Given the description of an element on the screen output the (x, y) to click on. 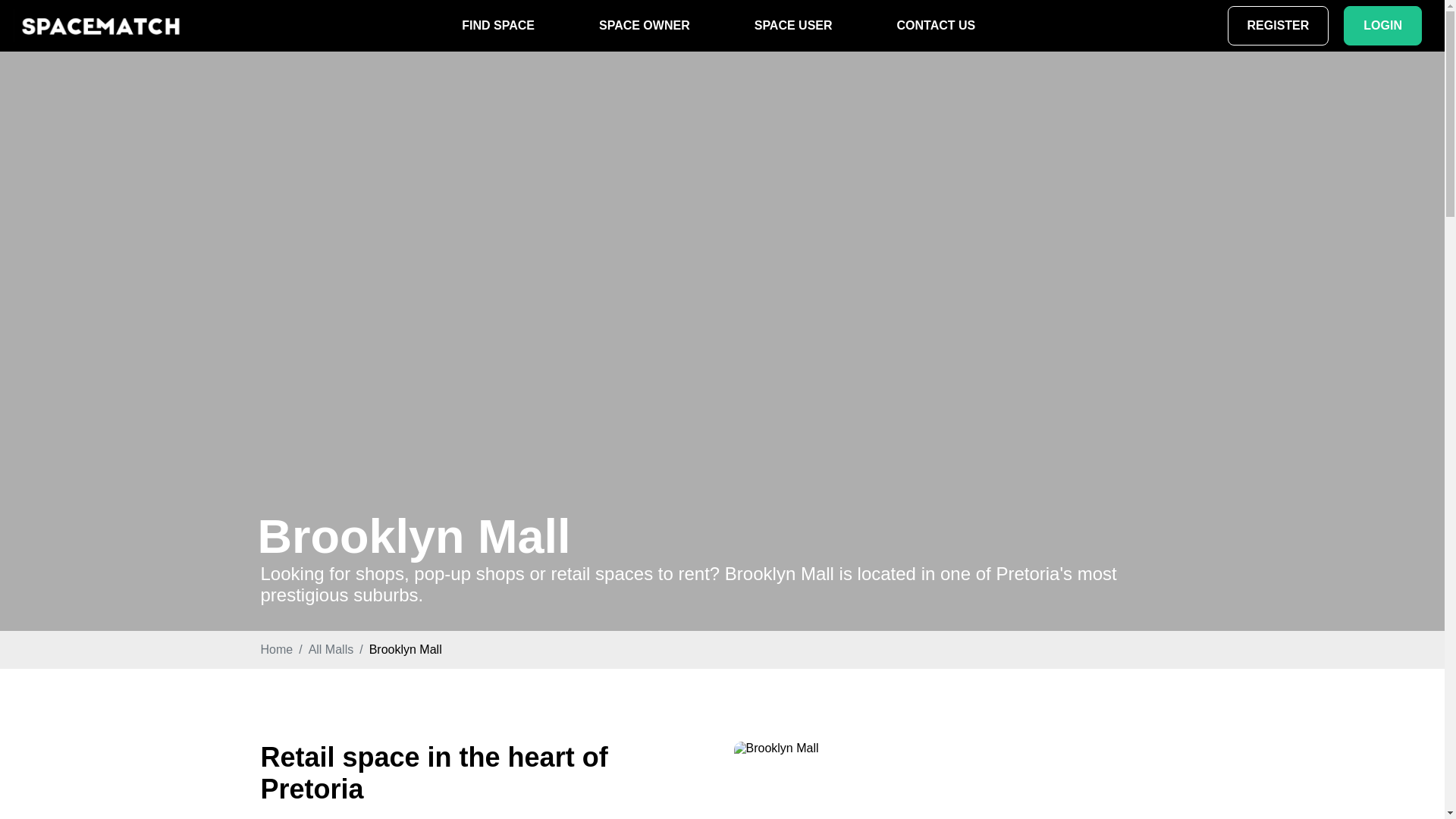
CONTACT US (935, 25)
All Malls (330, 649)
LOGIN (1382, 25)
SPACE USER (793, 25)
FIND SPACE (498, 25)
REGISTER (1278, 25)
Home (277, 649)
SPACE OWNER (644, 25)
